Given the description of an element on the screen output the (x, y) to click on. 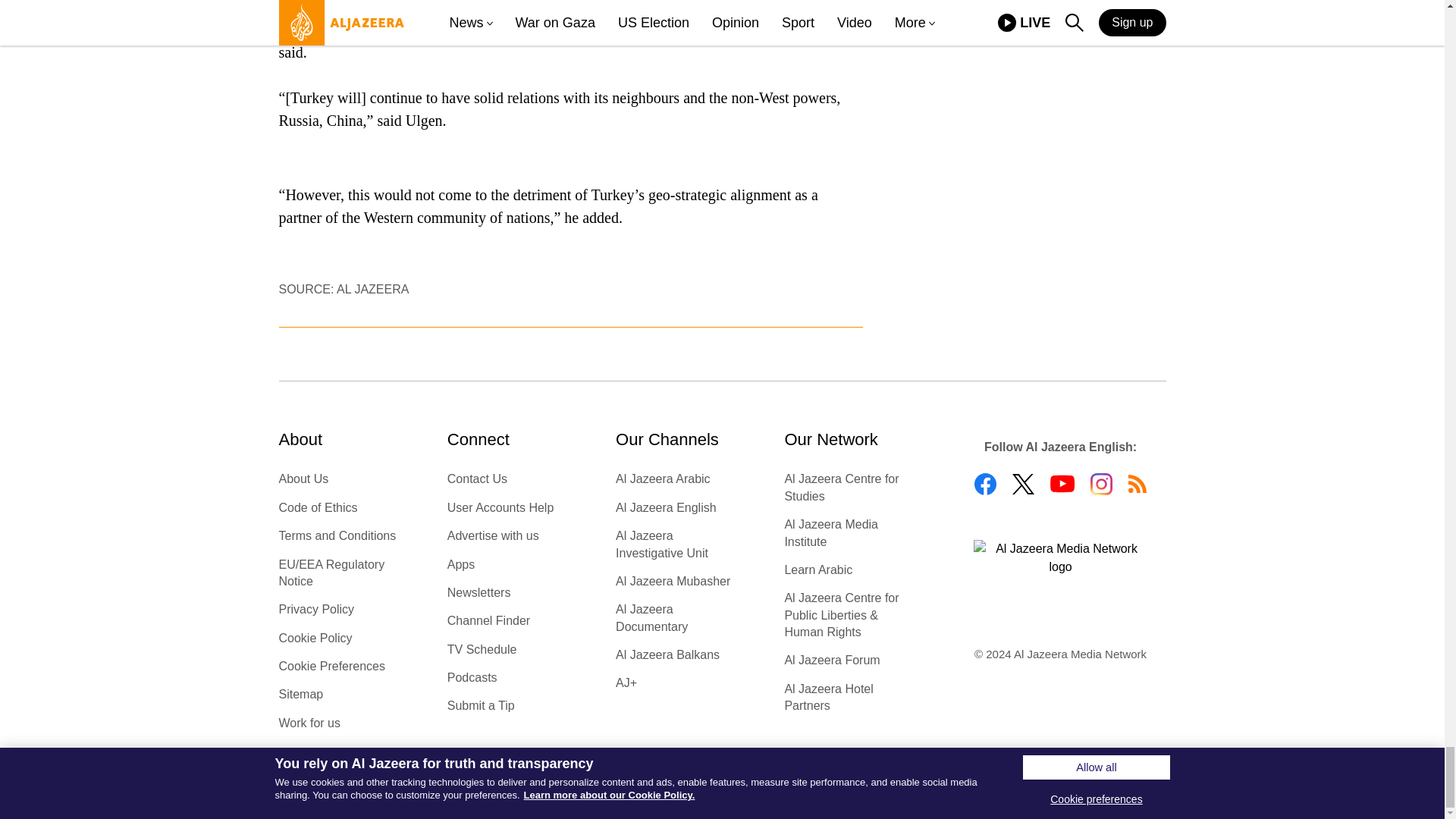
twitter (1022, 484)
instagram-colored-outline (1101, 484)
rss (1137, 484)
facebook (984, 484)
youtube (1061, 483)
